Given the description of an element on the screen output the (x, y) to click on. 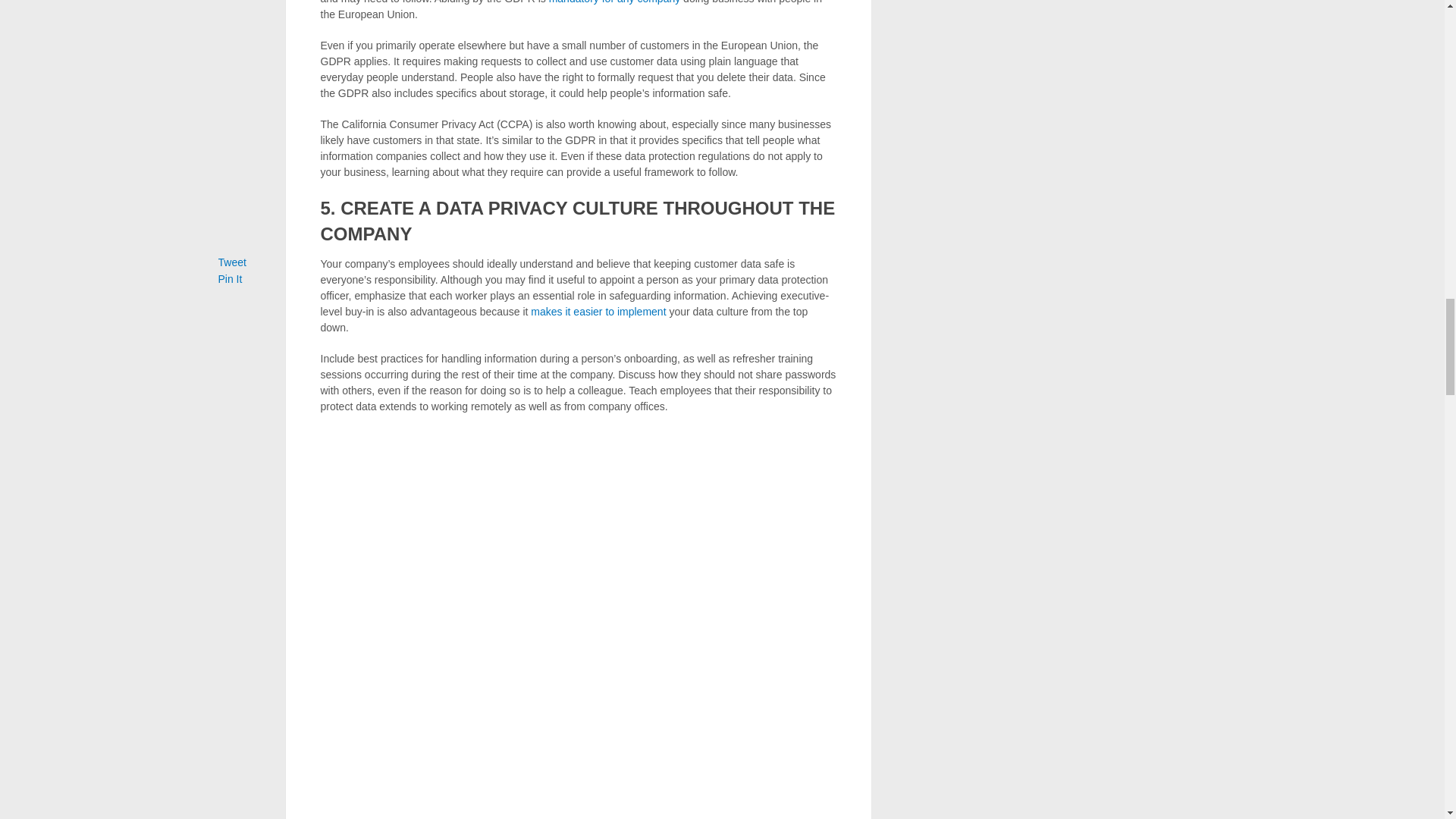
mandatory for any company (614, 2)
makes it easier to implement (598, 310)
